Given the description of an element on the screen output the (x, y) to click on. 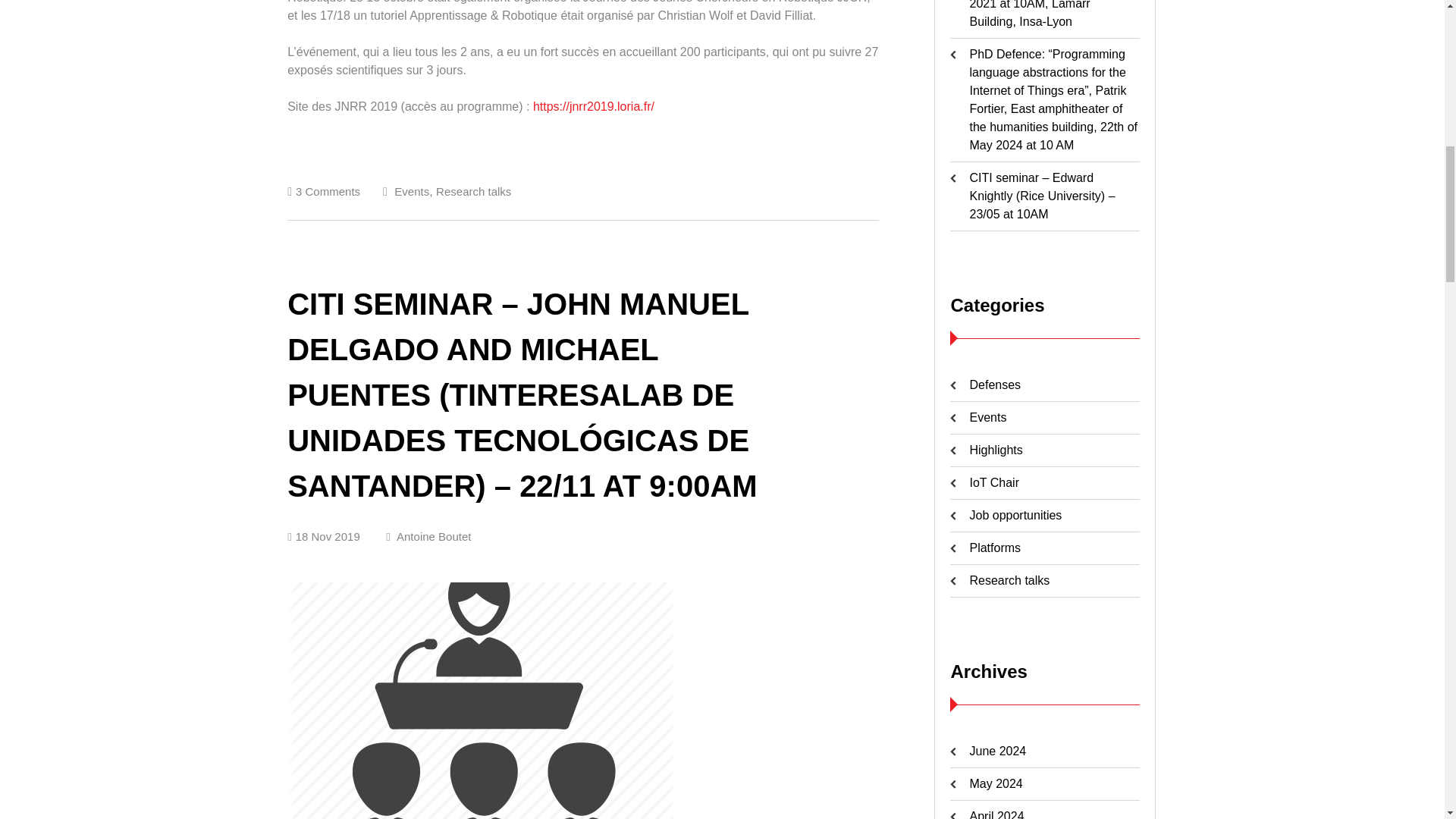
Events (411, 191)
18 Nov 2019 (322, 535)
Antoine Boutet (427, 535)
Research talks (473, 191)
3 Comments (327, 191)
